Given the description of an element on the screen output the (x, y) to click on. 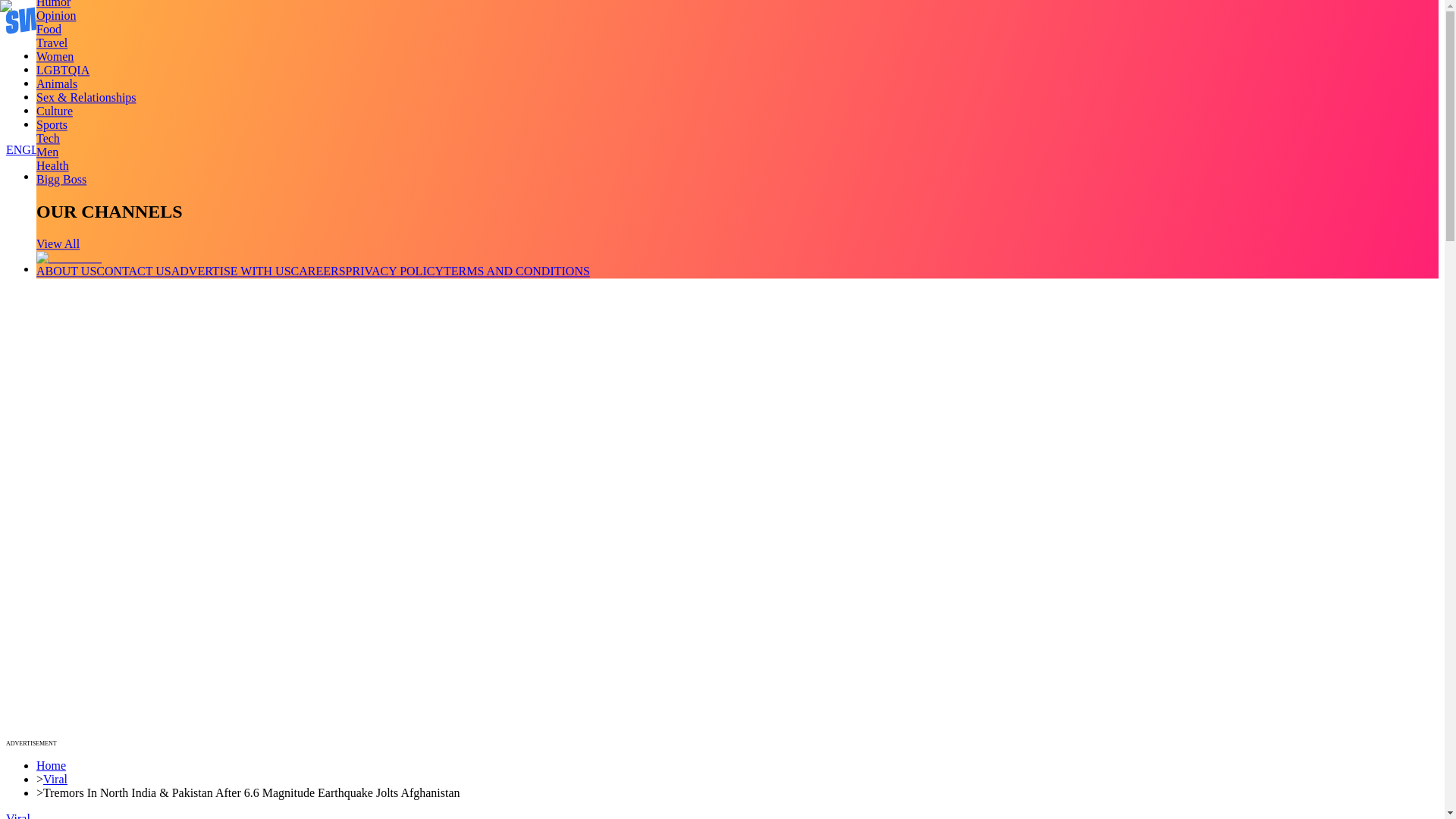
Animals (56, 83)
Culture (54, 110)
Bigg Boss (60, 178)
Spotlight (58, 123)
Humor (52, 4)
Food (48, 29)
Women (55, 56)
Trending (58, 55)
Men (47, 151)
ABOUT US (66, 270)
ENGLISH (31, 149)
Travel (51, 42)
Tech (47, 137)
Sports (51, 124)
Memes (53, 110)
